Given the description of an element on the screen output the (x, y) to click on. 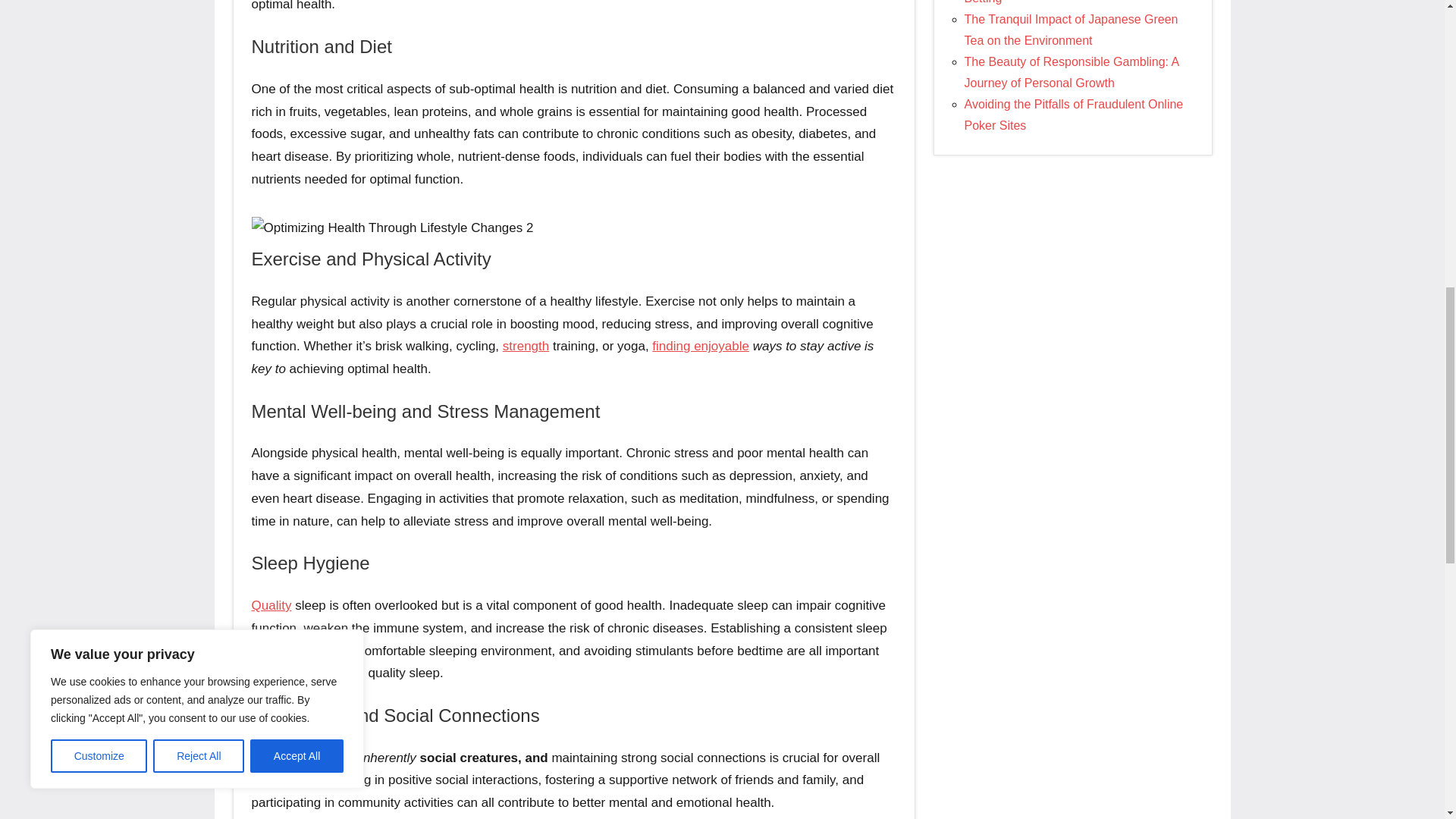
Quality (271, 605)
strength (525, 345)
finding enjoyable (700, 345)
